Given the description of an element on the screen output the (x, y) to click on. 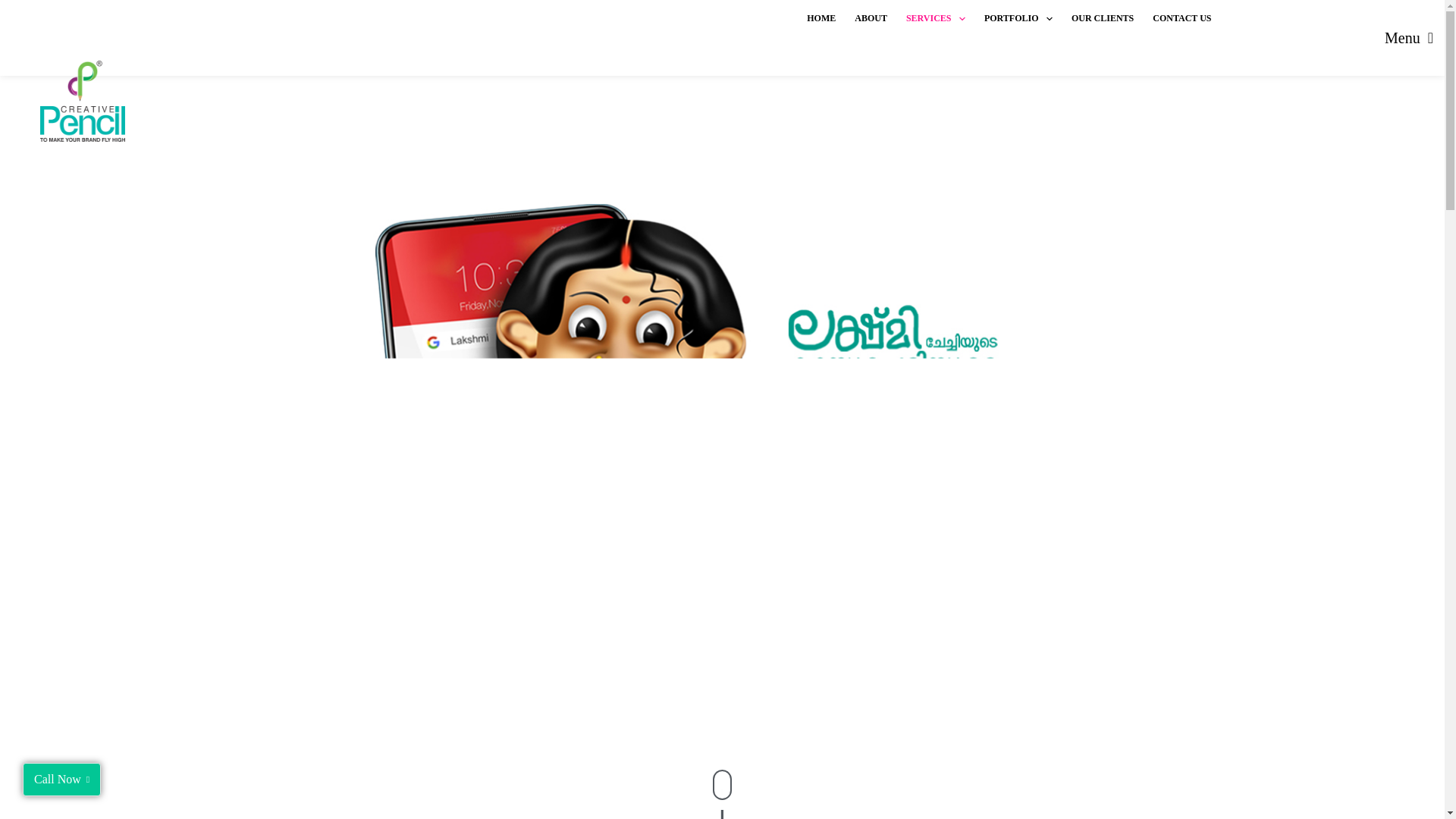
HOME (821, 18)
ABOUT (870, 18)
SERVICES (935, 18)
Skip to content (15, 7)
